Given the description of an element on the screen output the (x, y) to click on. 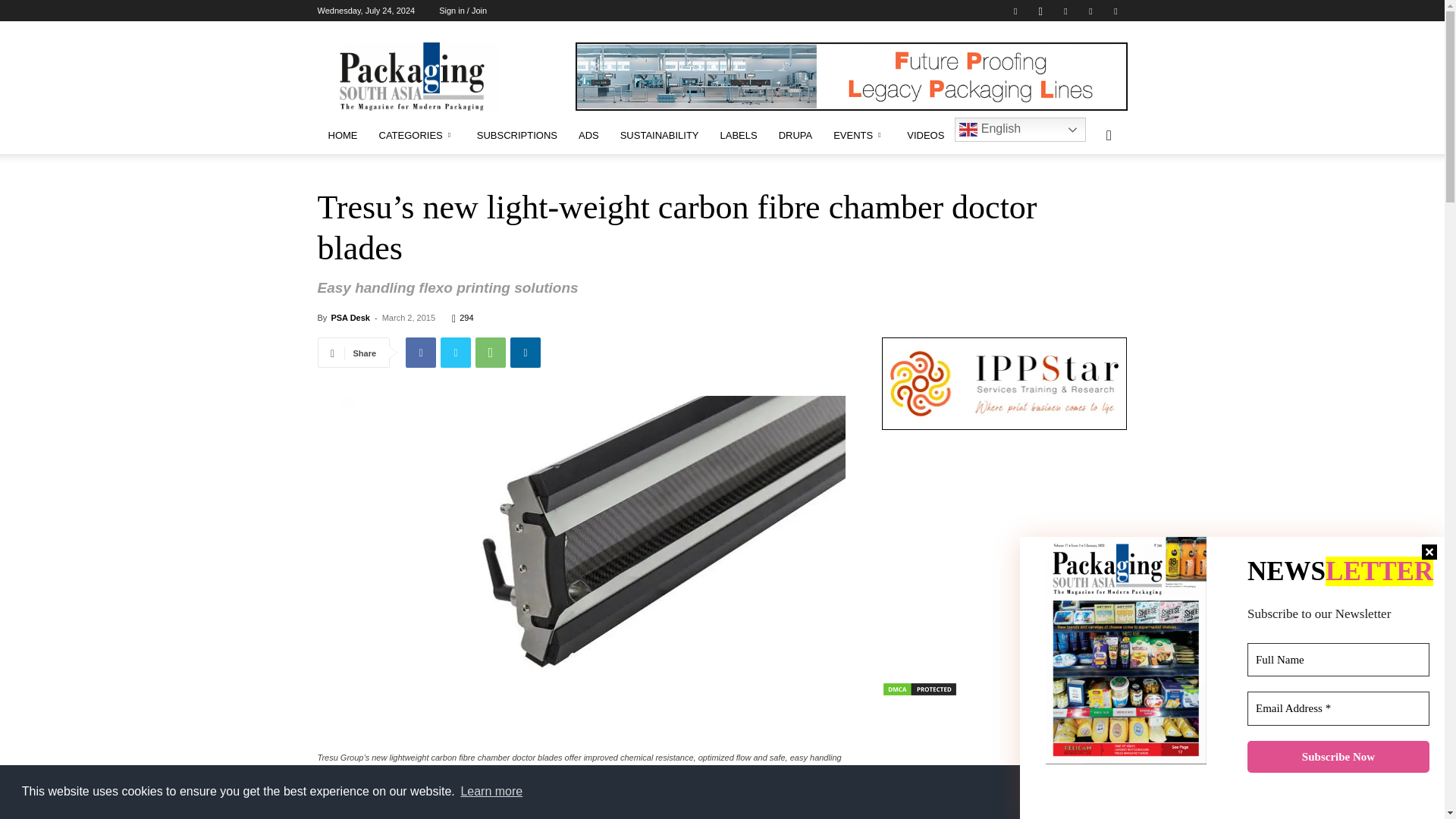
Linkedin (1065, 10)
Facebook (1015, 10)
Subscribe Now (1338, 756)
Twitter (1090, 10)
Learn more (491, 791)
Got it! (1369, 791)
Instagram (1040, 10)
Youtube (1114, 10)
